Given the description of an element on the screen output the (x, y) to click on. 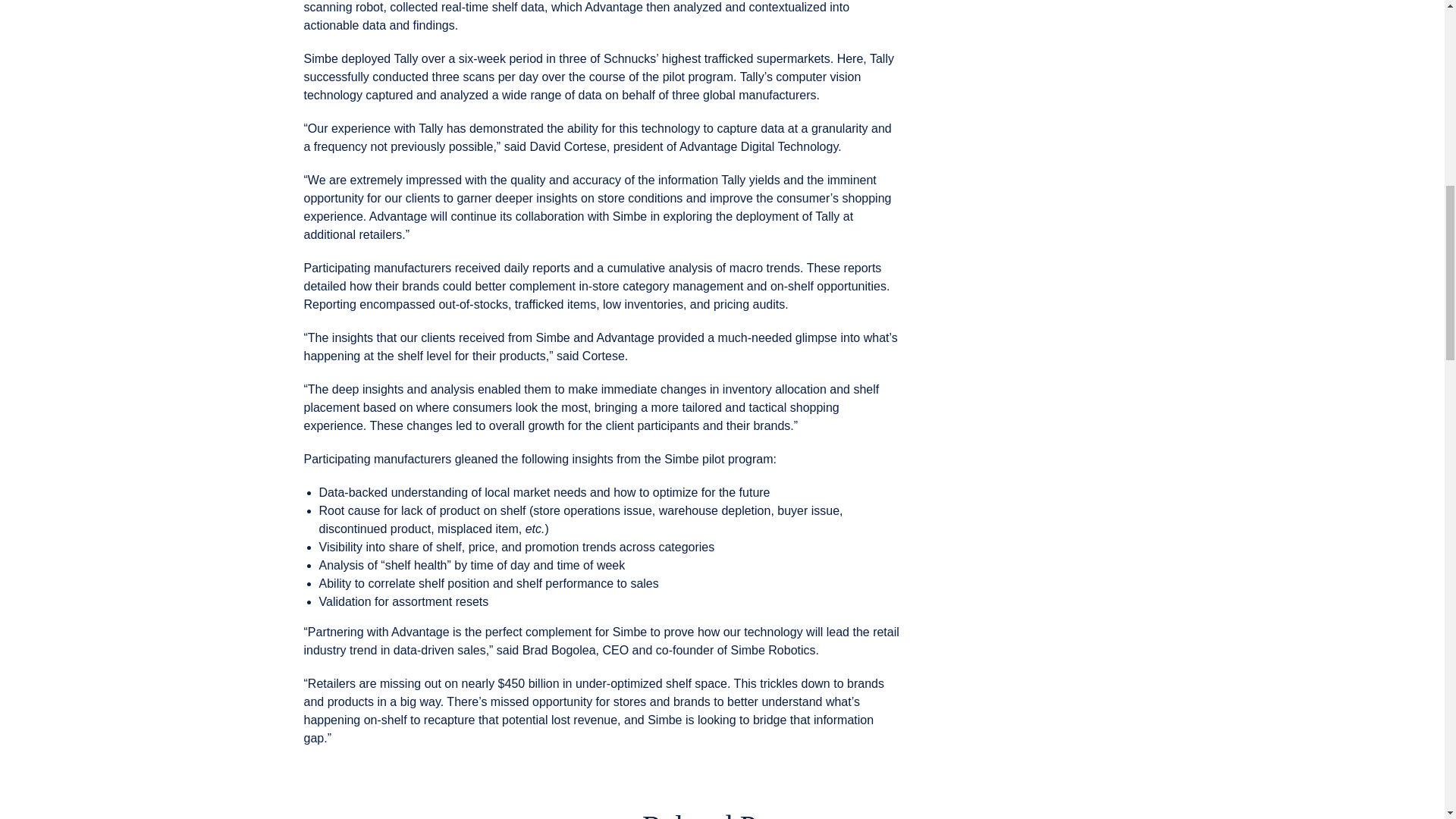
3rd party ad content (1026, 225)
3rd party ad content (1026, 429)
3rd party ad content (196, 89)
3rd party ad content (1247, 89)
3rd party ad content (1026, 57)
3rd party ad content (1026, 634)
